Given the description of an element on the screen output the (x, y) to click on. 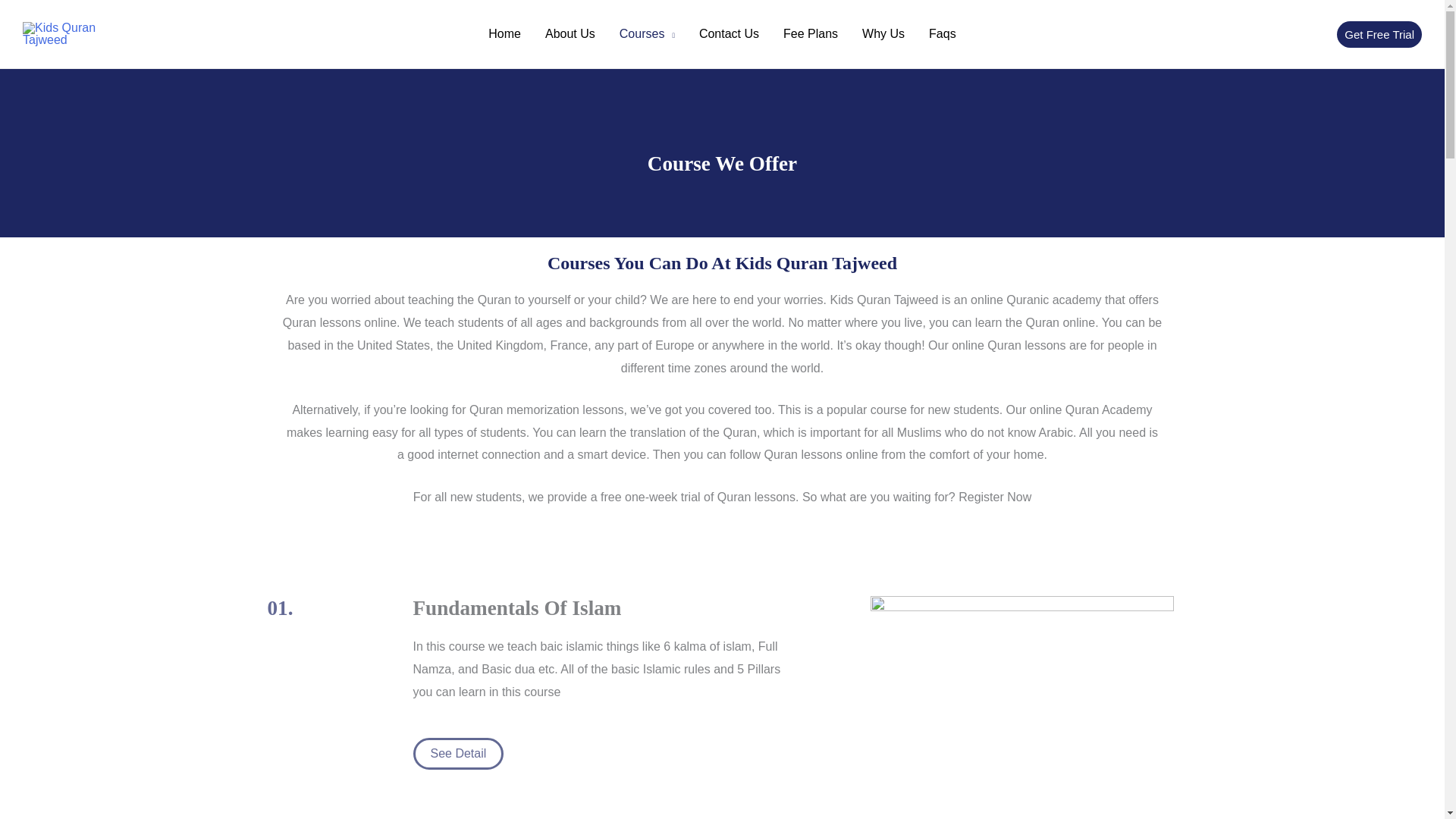
Contact Us (729, 33)
Fee Plans (810, 33)
Why Us (883, 33)
Courses (647, 33)
Get Free Trial (1382, 34)
About Us (569, 33)
See Detail (457, 753)
